Given the description of an element on the screen output the (x, y) to click on. 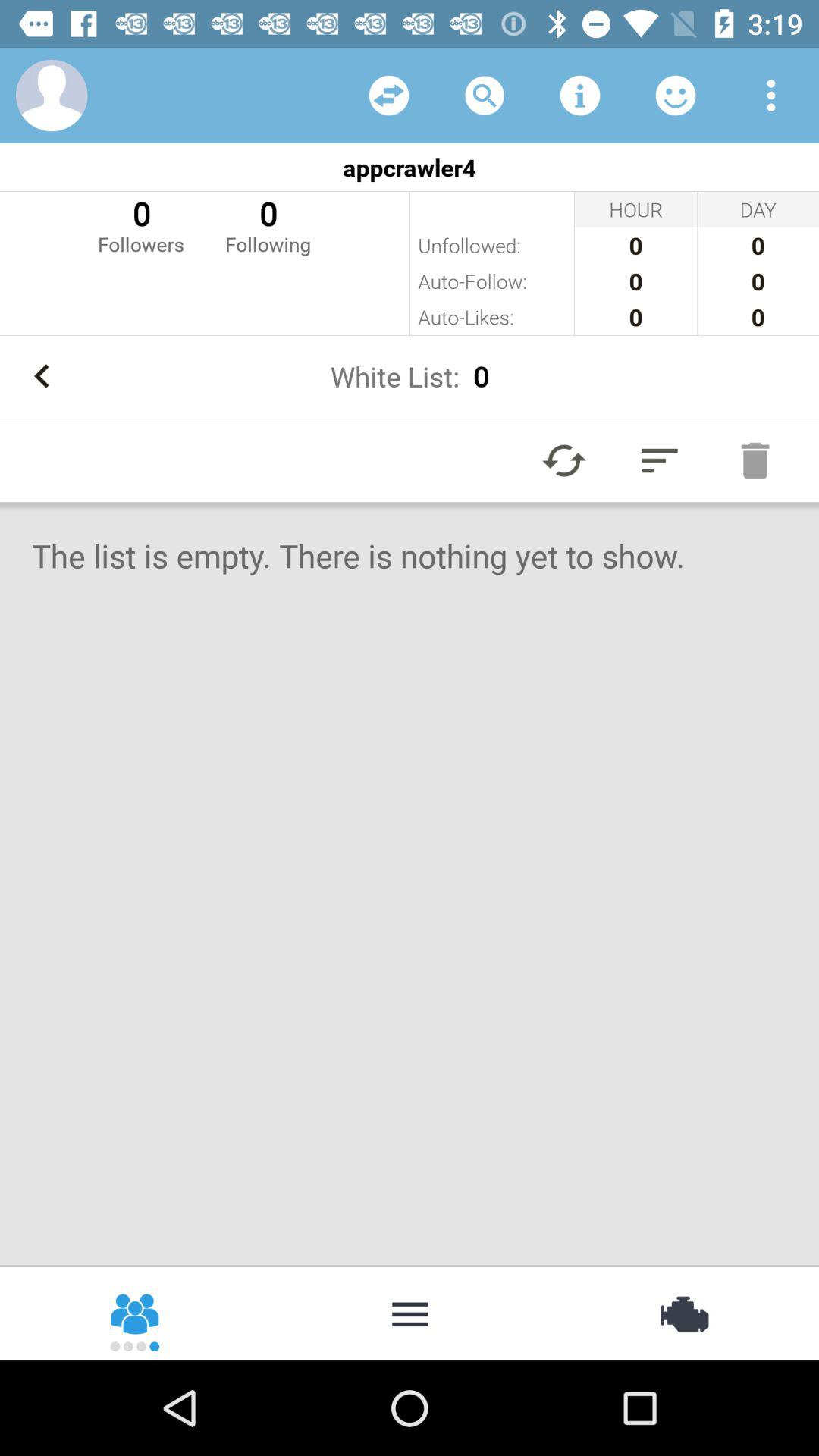
launch the item above the the list is (659, 460)
